Given the description of an element on the screen output the (x, y) to click on. 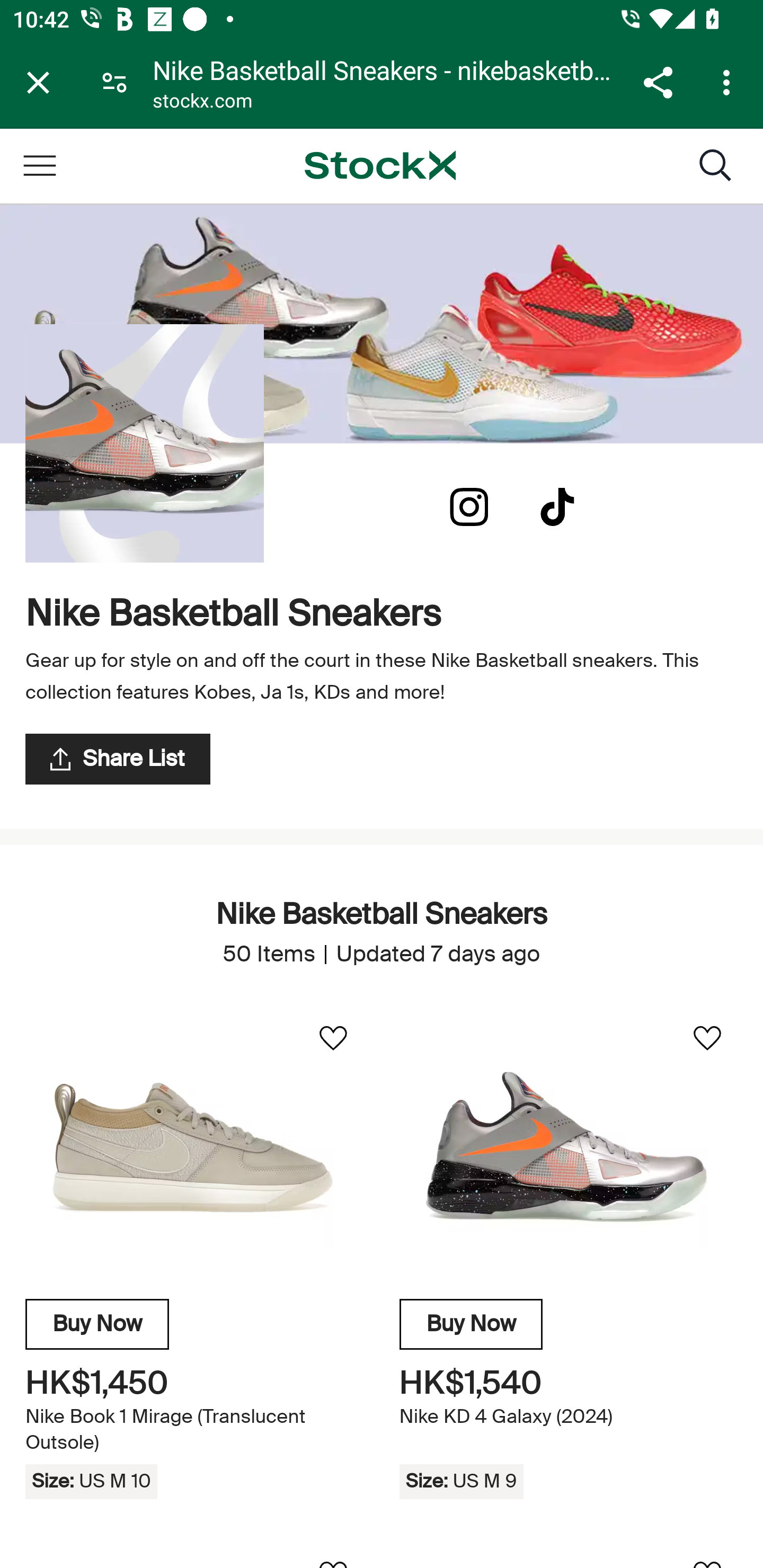
Close tab (38, 82)
Share (657, 82)
Customize and control Google Chrome (729, 82)
Connection is secure (114, 81)
stockx.com (202, 103)
Toggle Navigation (39, 165)
StockX Logo (379, 165)
?hl=en (469, 507)
@stockx (557, 507)
Share List (118, 758)
nike-book-1-light-orewood-brown?size=10 (194, 1147)
nike-kd-4-galaxy-2024?size=9 (568, 1147)
Buy Now (97, 1324)
Buy Now (471, 1324)
